Given the description of an element on the screen output the (x, y) to click on. 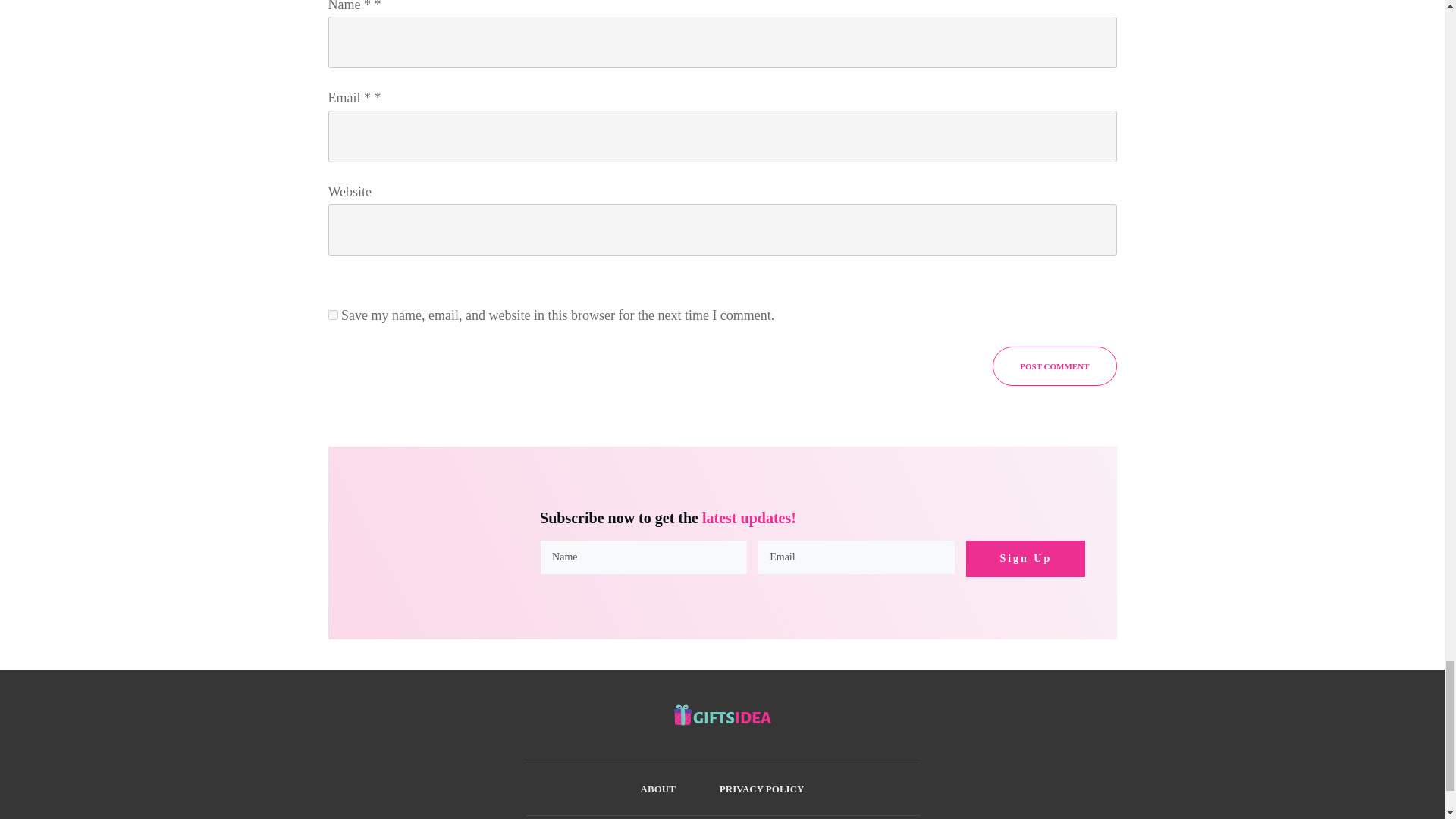
Sign Up (1025, 558)
yes (332, 315)
POST COMMENT (1054, 365)
ABOUT (657, 789)
PRIVACY POLICY (762, 789)
